Given the description of an element on the screen output the (x, y) to click on. 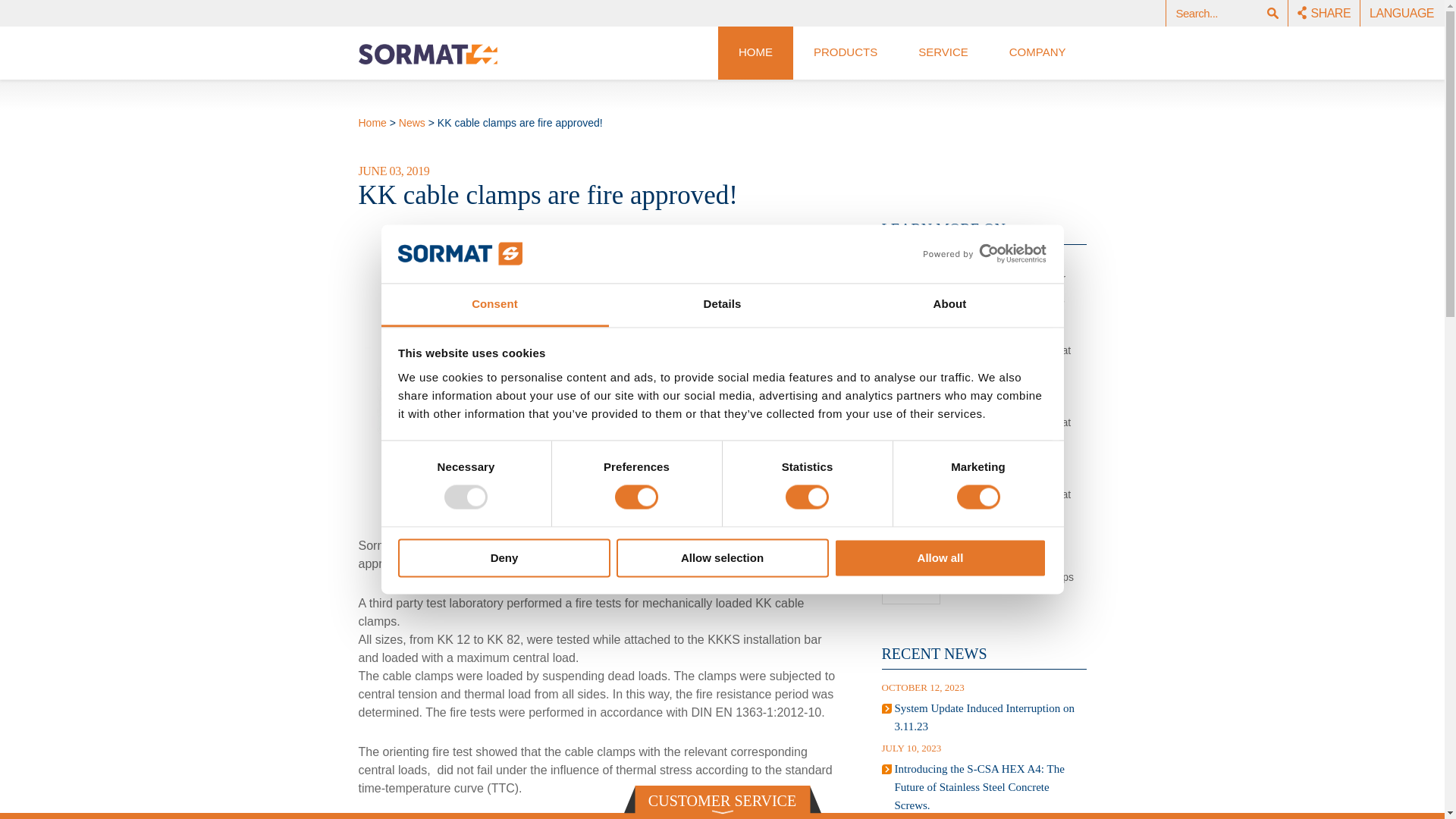
Sormat (427, 54)
Allow selection (721, 557)
System Update Induced Interruption on 3.11.23 (984, 716)
Details (721, 304)
About (948, 304)
Deny (503, 557)
Consent (494, 304)
Allow all (940, 557)
